Given the description of an element on the screen output the (x, y) to click on. 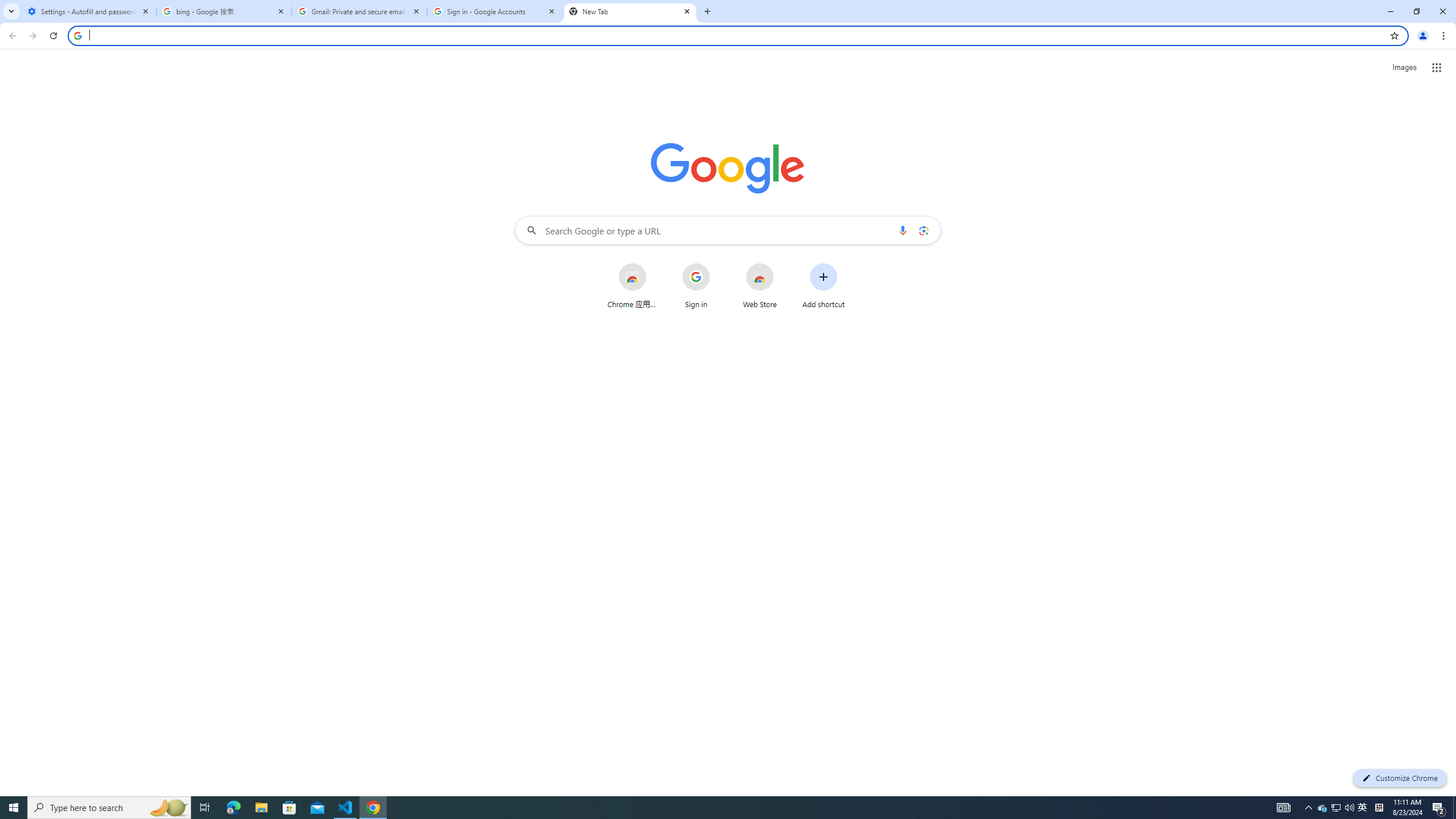
More actions for Web Store shortcut (782, 264)
More actions for Sign in shortcut (718, 264)
Sign in - Google Accounts (494, 11)
Web Store (760, 285)
